Given the description of an element on the screen output the (x, y) to click on. 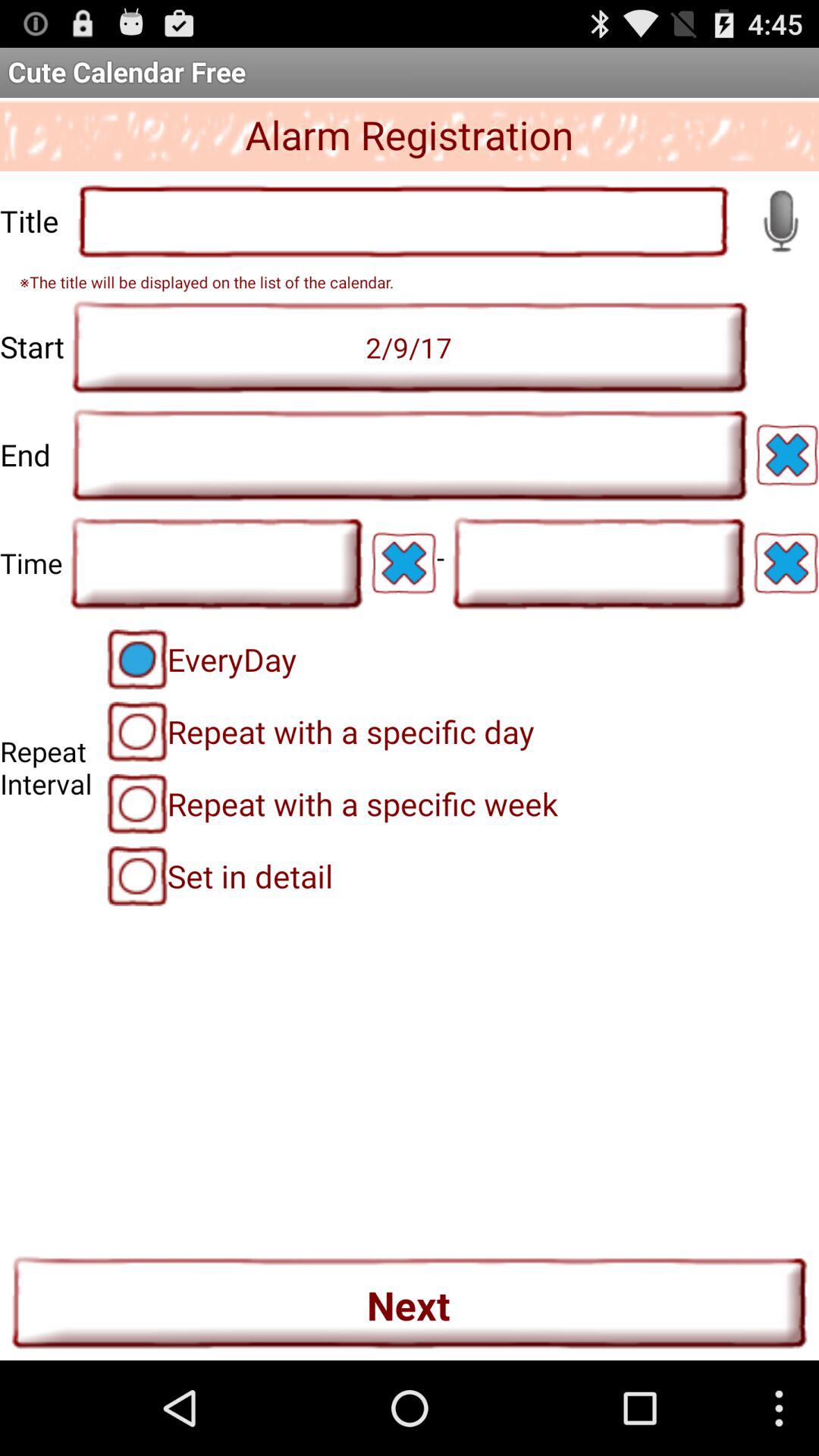
enter end date (409, 454)
